Given the description of an element on the screen output the (x, y) to click on. 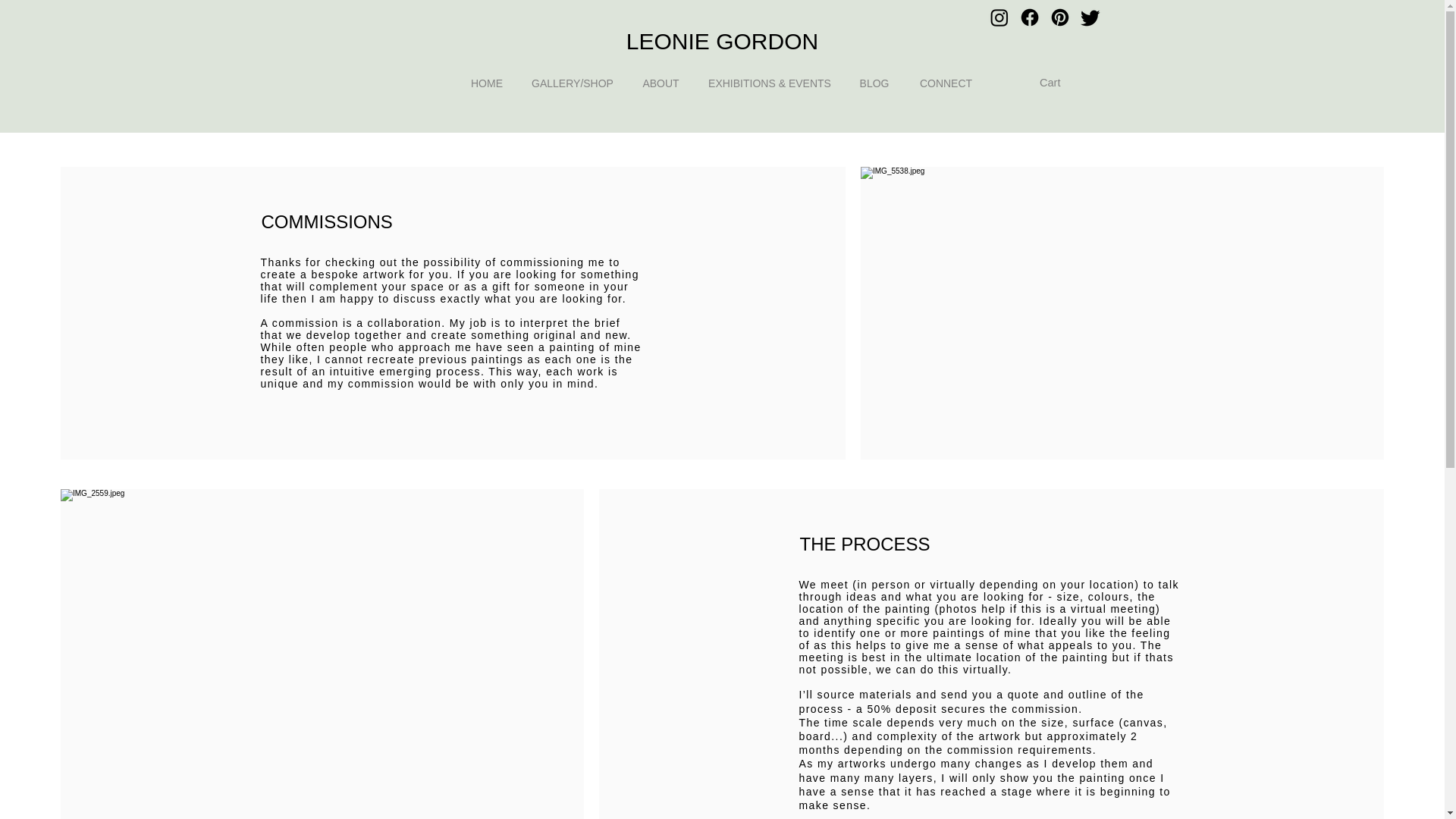
HOME (486, 83)
Cart (1058, 82)
BLOG (874, 83)
Cart (1058, 82)
ABOUT (660, 83)
CONNECT (945, 83)
